Given the description of an element on the screen output the (x, y) to click on. 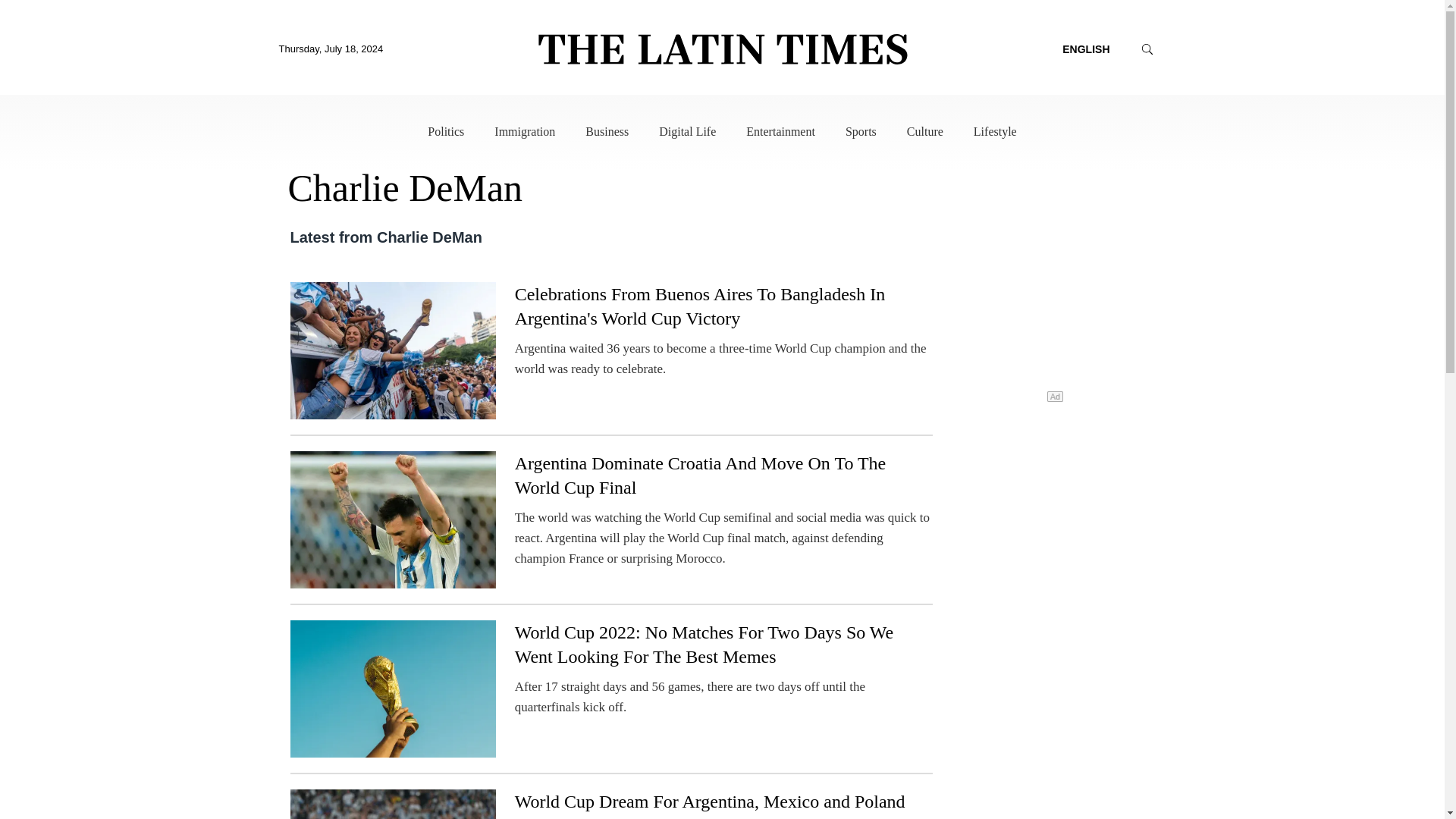
Politics (446, 131)
Immigration (524, 131)
Business (606, 131)
Politics (446, 131)
Entertainment (780, 131)
Lifestyle (995, 131)
Business (606, 131)
Digital Life (687, 131)
Lifestyle (995, 131)
Digital Life (687, 131)
Sports (860, 131)
Search (1147, 130)
